Given the description of an element on the screen output the (x, y) to click on. 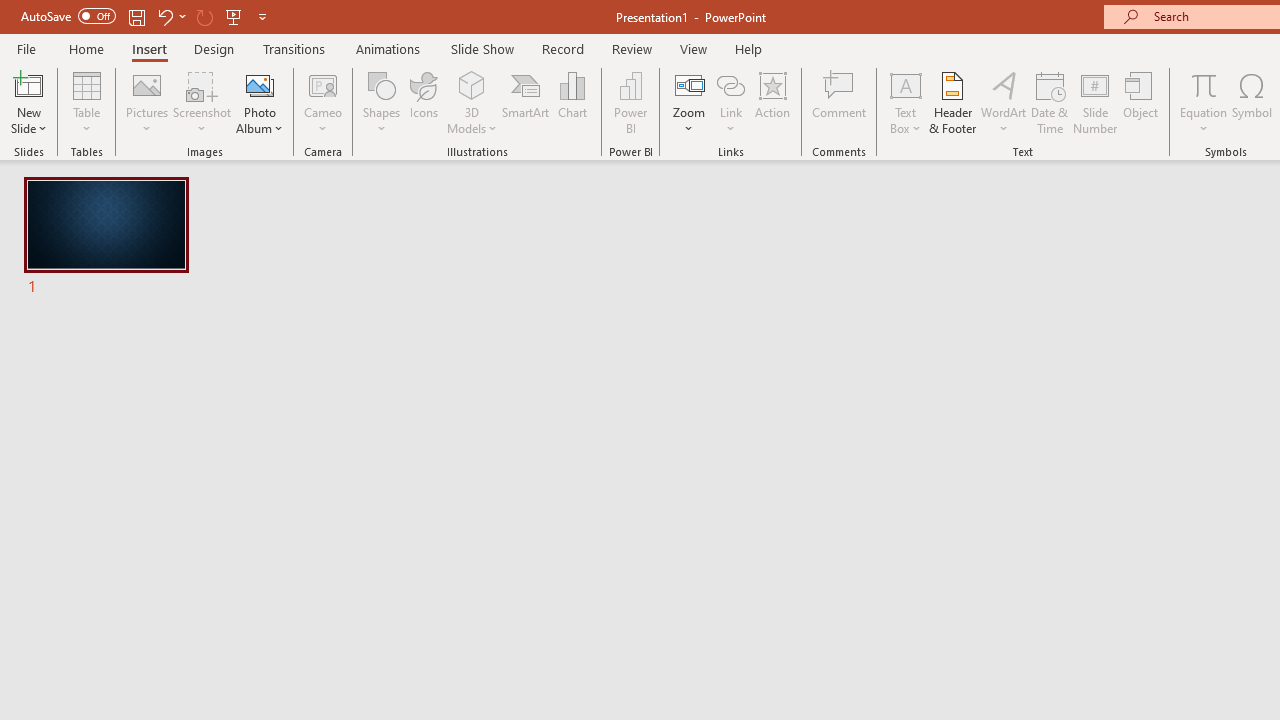
Slide Number (1095, 102)
Link (731, 84)
Text Box (905, 102)
Cameo (323, 84)
New Photo Album... (259, 84)
Icons (424, 102)
Table (86, 102)
Slide (105, 238)
Equation (1203, 102)
